Given the description of an element on the screen output the (x, y) to click on. 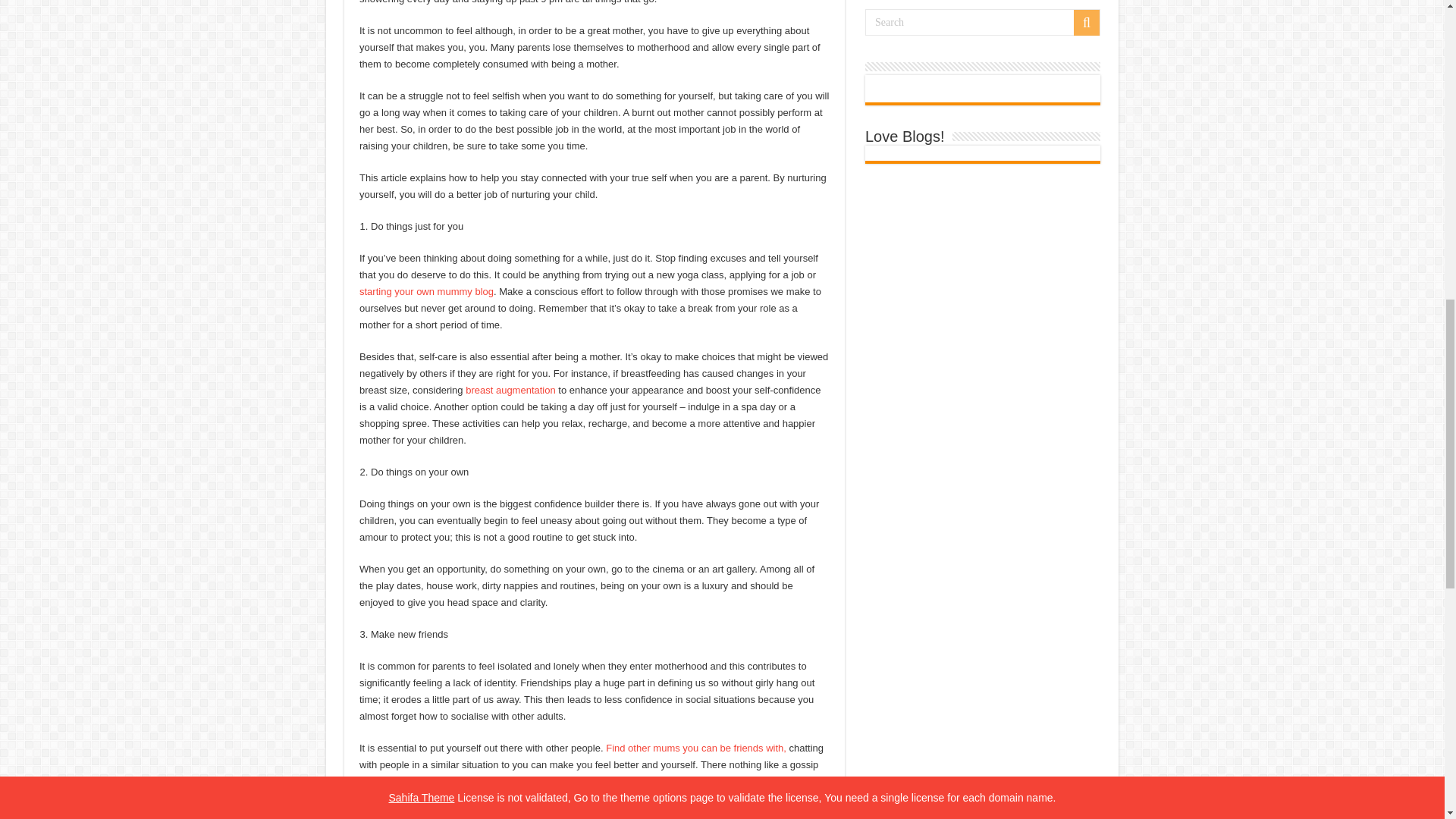
TOTS 100 - UK Parent Blogs (934, 88)
breast augmentation (510, 389)
starting your own mummy blog (426, 291)
Find other mums you can be friends with, (695, 747)
Search (982, 22)
